Given the description of an element on the screen output the (x, y) to click on. 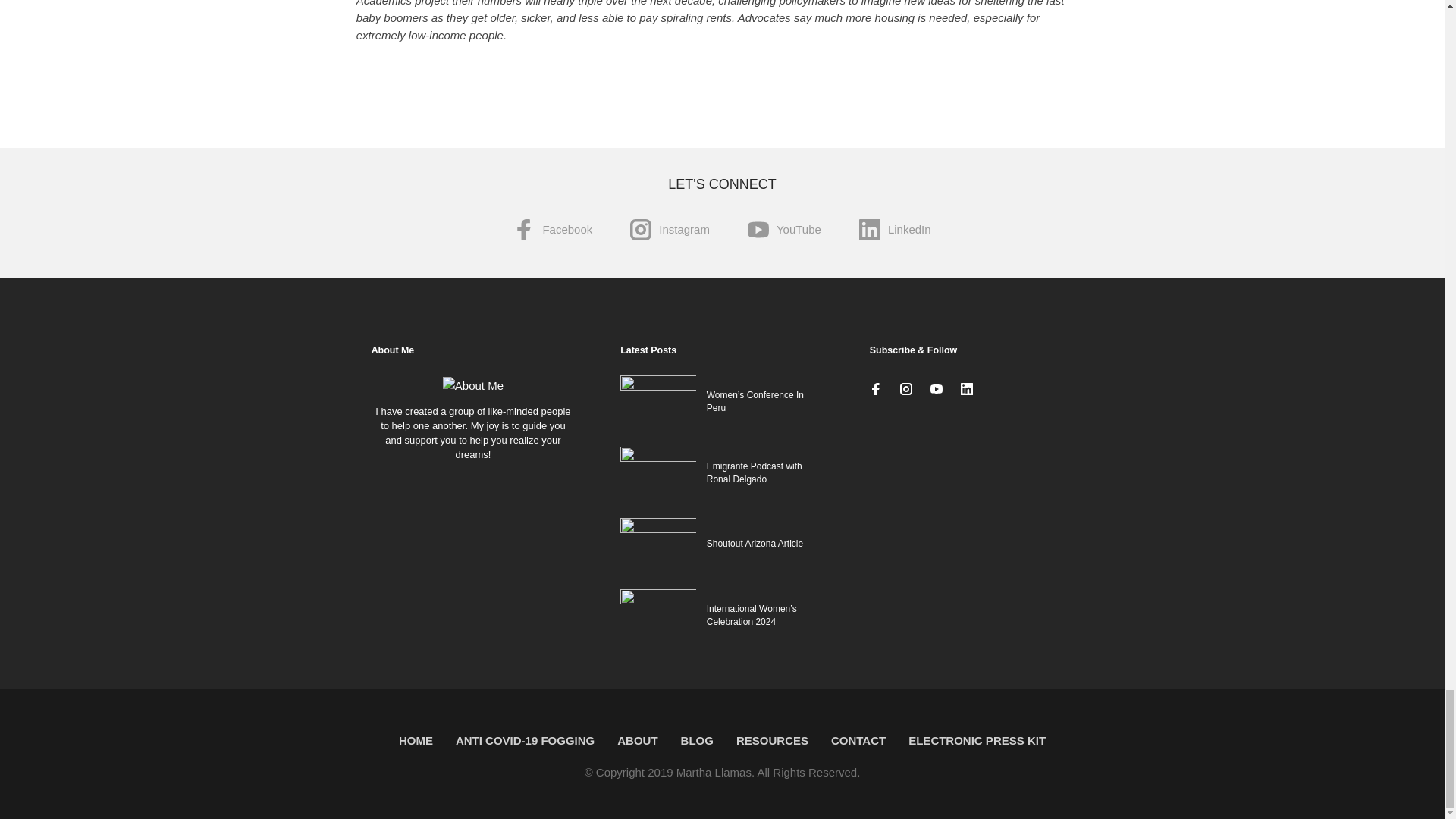
Emigrante Podcast with Ronal Delgado (754, 472)
Facebook (552, 230)
ABOUT (636, 740)
Instagram (670, 230)
ANTI COVID-19 FOGGING (524, 740)
LinkedIn (895, 230)
HOME (415, 740)
YouTube (784, 230)
Shoutout Arizona Article (754, 543)
BLOG (697, 740)
